Given the description of an element on the screen output the (x, y) to click on. 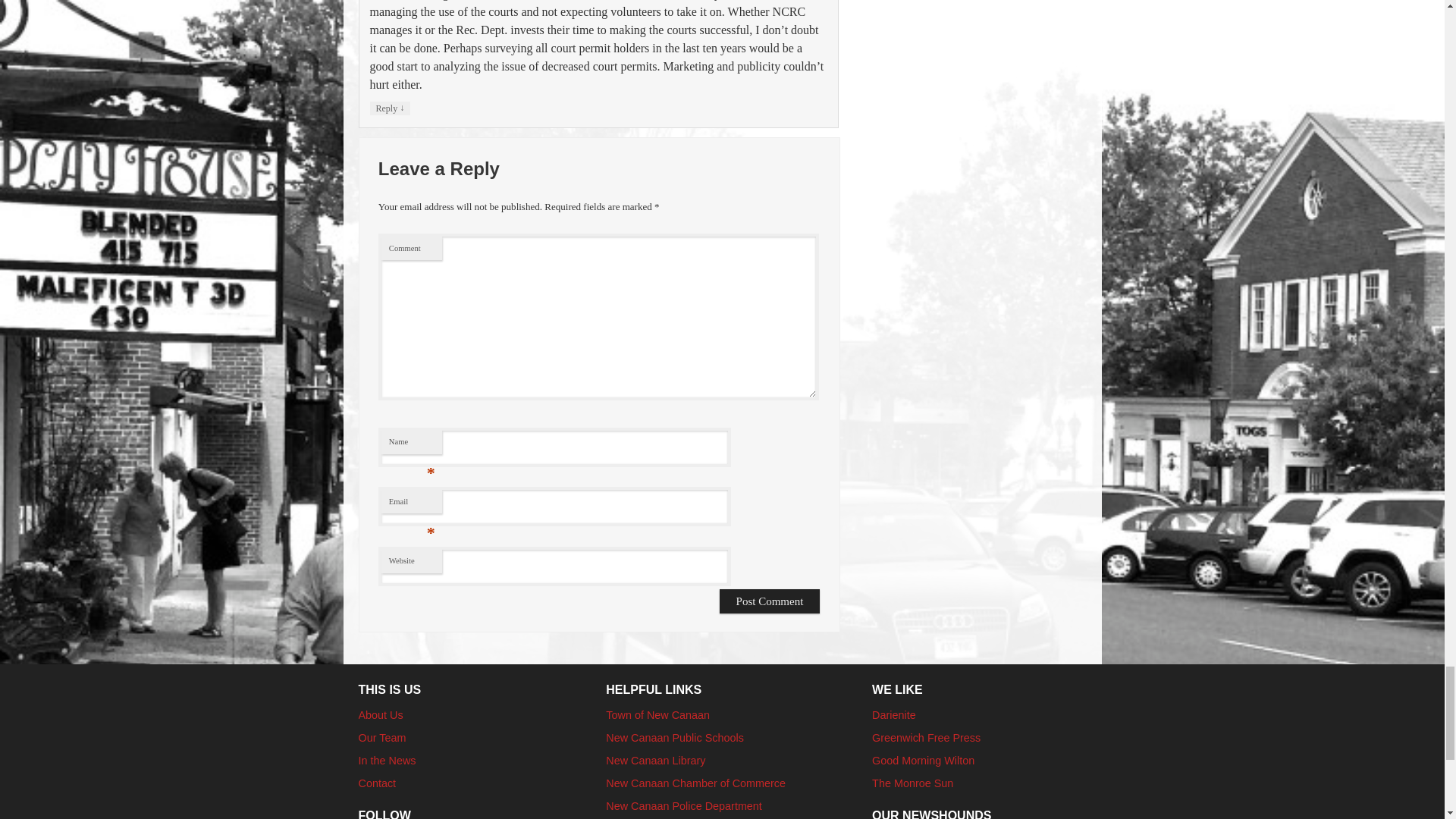
Post Comment (770, 601)
